Given the description of an element on the screen output the (x, y) to click on. 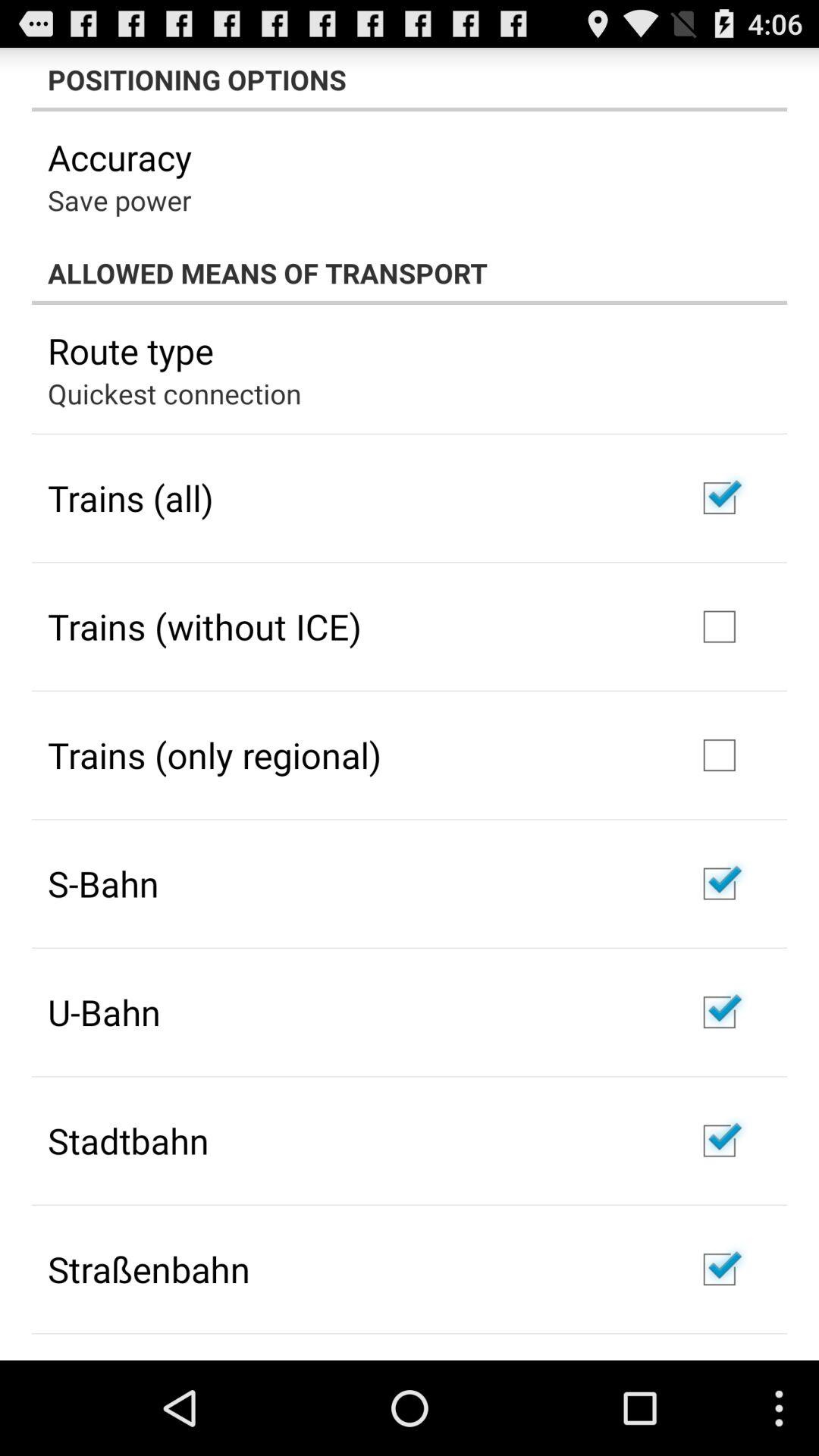
flip to the trains (without ice) app (204, 626)
